Given the description of an element on the screen output the (x, y) to click on. 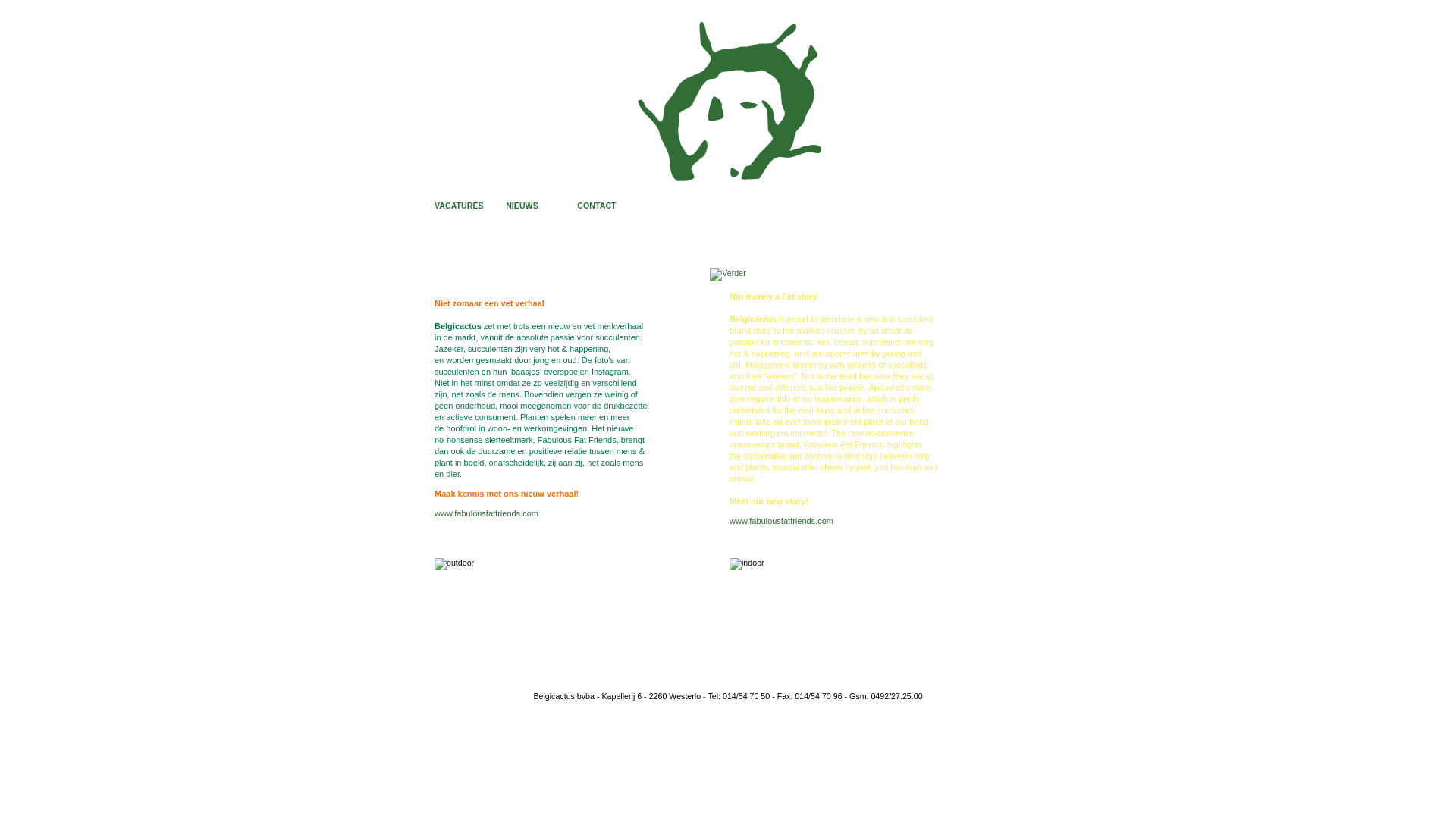
NIEUWS Element type: text (521, 205)
CONTACT Element type: text (596, 205)
www.fabulousfatfriends.com Element type: text (486, 512)
www.fabulousfatfriends.com Element type: text (781, 520)
VACATURES Element type: text (458, 205)
